Given the description of an element on the screen output the (x, y) to click on. 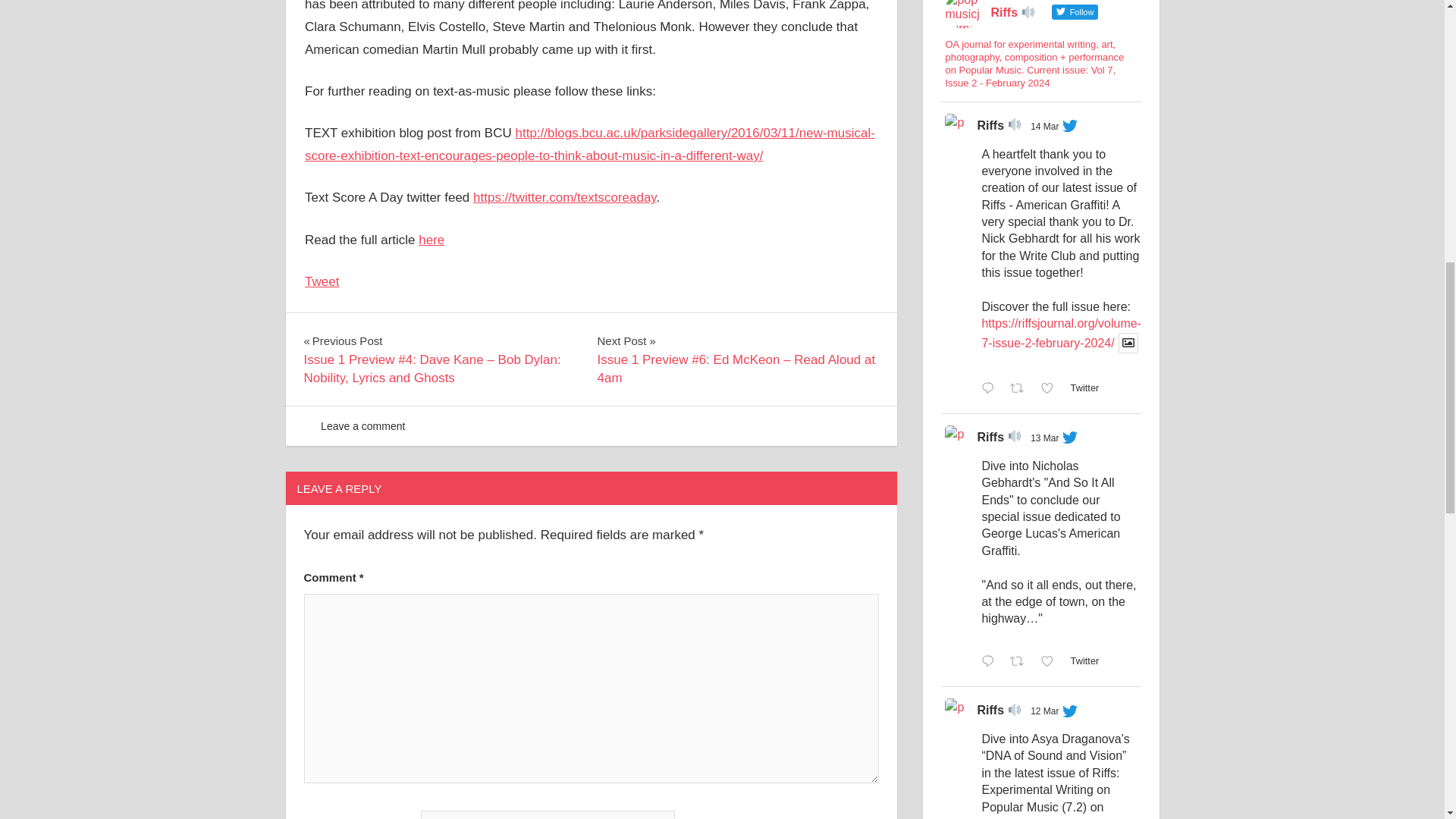
View all posts by Craig Hamilton (355, 426)
4:43 pm (360, 426)
